Given the description of an element on the screen output the (x, y) to click on. 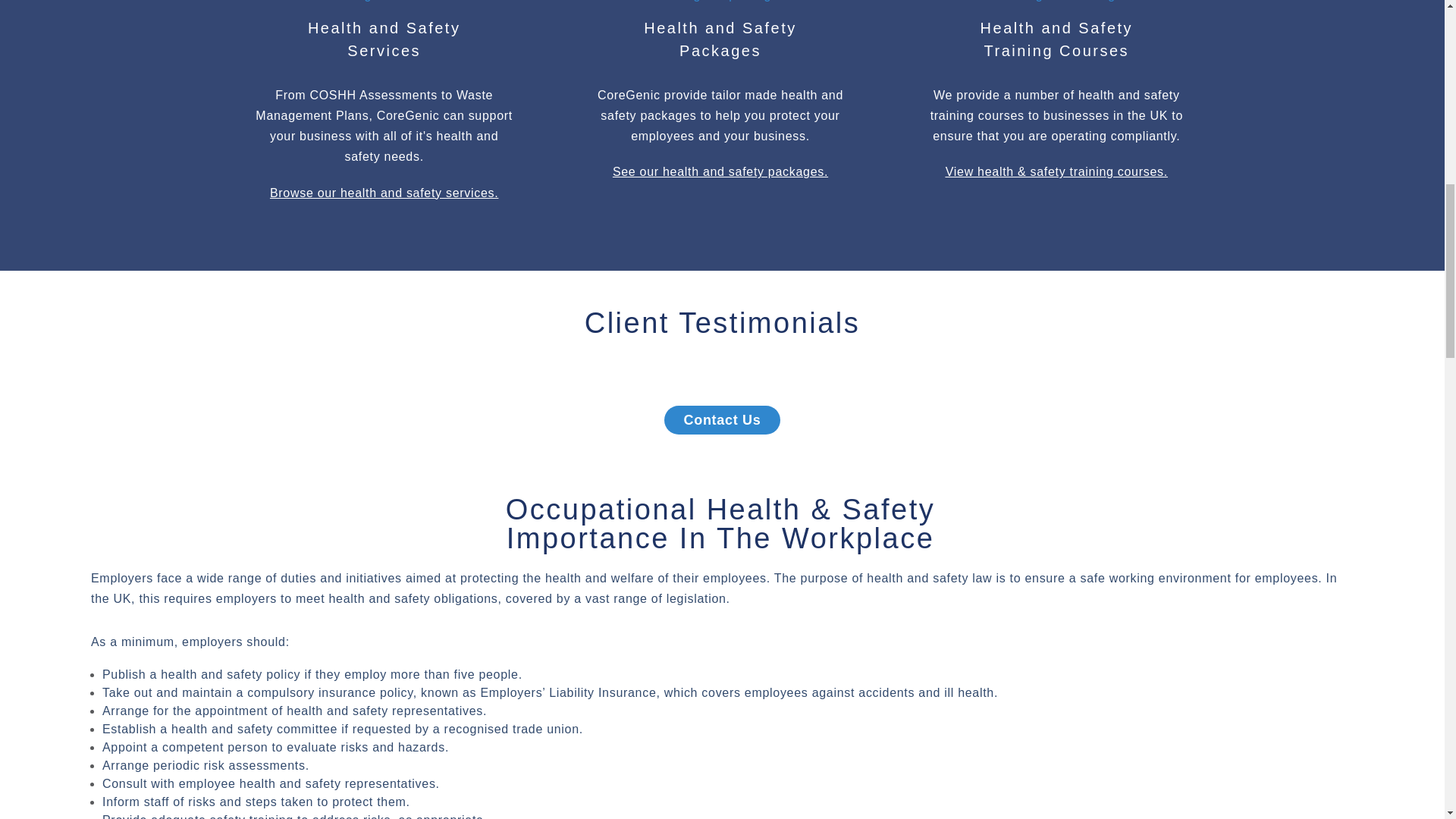
See our health and safety packages. (720, 171)
Contact Us (720, 419)
Browse our health and safety services. (1056, 38)
